Given the description of an element on the screen output the (x, y) to click on. 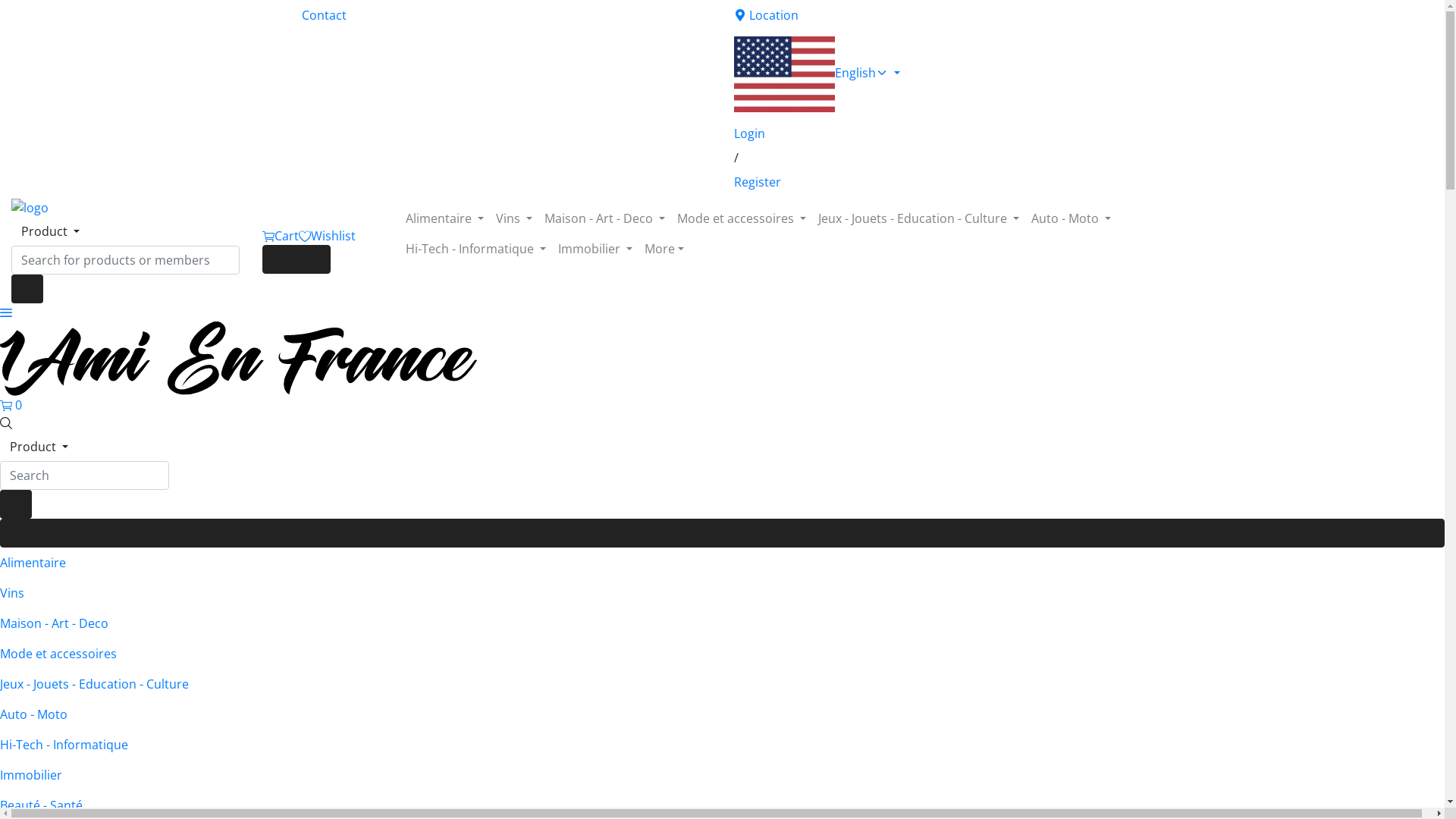
Sell Now Element type: text (722, 532)
Jeux - Jouets - Education - Culture Element type: text (722, 683)
Alimentaire Element type: text (444, 218)
Register Element type: text (938, 181)
Sell Now Element type: text (296, 258)
0 Element type: text (10, 404)
Mode et accessoires Element type: text (741, 218)
Hi-Tech - Informatique Element type: text (475, 248)
Vins Element type: text (513, 218)
Login Element type: text (938, 133)
English Element type: text (938, 74)
Contact Element type: text (506, 15)
Maison - Art - Deco Element type: text (722, 623)
More Element type: text (664, 248)
Auto - Moto Element type: text (722, 714)
Wishlist Element type: text (326, 235)
Mode et accessoires Element type: text (722, 653)
 Location Element type: text (938, 15)
Auto - Moto Element type: text (1071, 218)
Immobilier Element type: text (595, 248)
Hi-Tech - Informatique Element type: text (722, 744)
Product Element type: text (50, 230)
Alimentaire Element type: text (722, 562)
Maison - Art - Deco Element type: text (604, 218)
Immobilier Element type: text (722, 774)
Vins Element type: text (722, 592)
Product Element type: text (39, 446)
Jeux - Jouets - Education - Culture Element type: text (918, 218)
Cart Element type: text (280, 235)
